Given the description of an element on the screen output the (x, y) to click on. 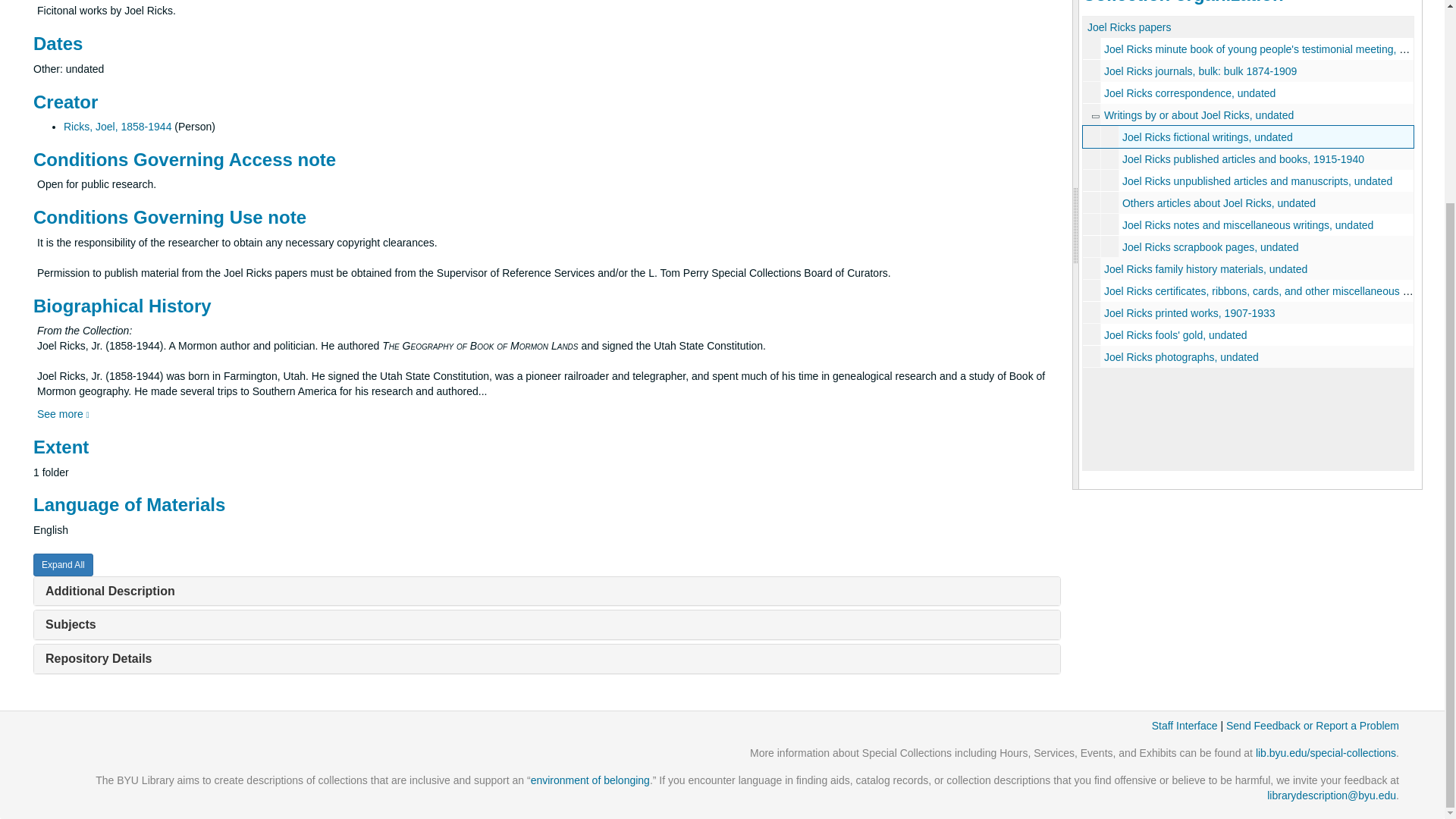
Joel Ricks notes and miscellaneous writings (1248, 224)
Joel Ricks family history materials (1248, 268)
Expand All (63, 564)
Writings by or about Joel Ricks (1248, 115)
Joel Ricks correspondence, undated (1189, 92)
Others articles about Joel Ricks (1248, 202)
Repository Details (98, 658)
Joel Ricks minute book of young people's testimonial meeting (1248, 48)
Joel Ricks scrapbook pages (1248, 246)
Ricks, Joel, 1858-1944 (117, 126)
Writings by or about Joel Ricks (1093, 115)
Joel Ricks journals (1248, 70)
Joel Ricks journals, bulk: bulk 1874-1909 (1200, 70)
